Given the description of an element on the screen output the (x, y) to click on. 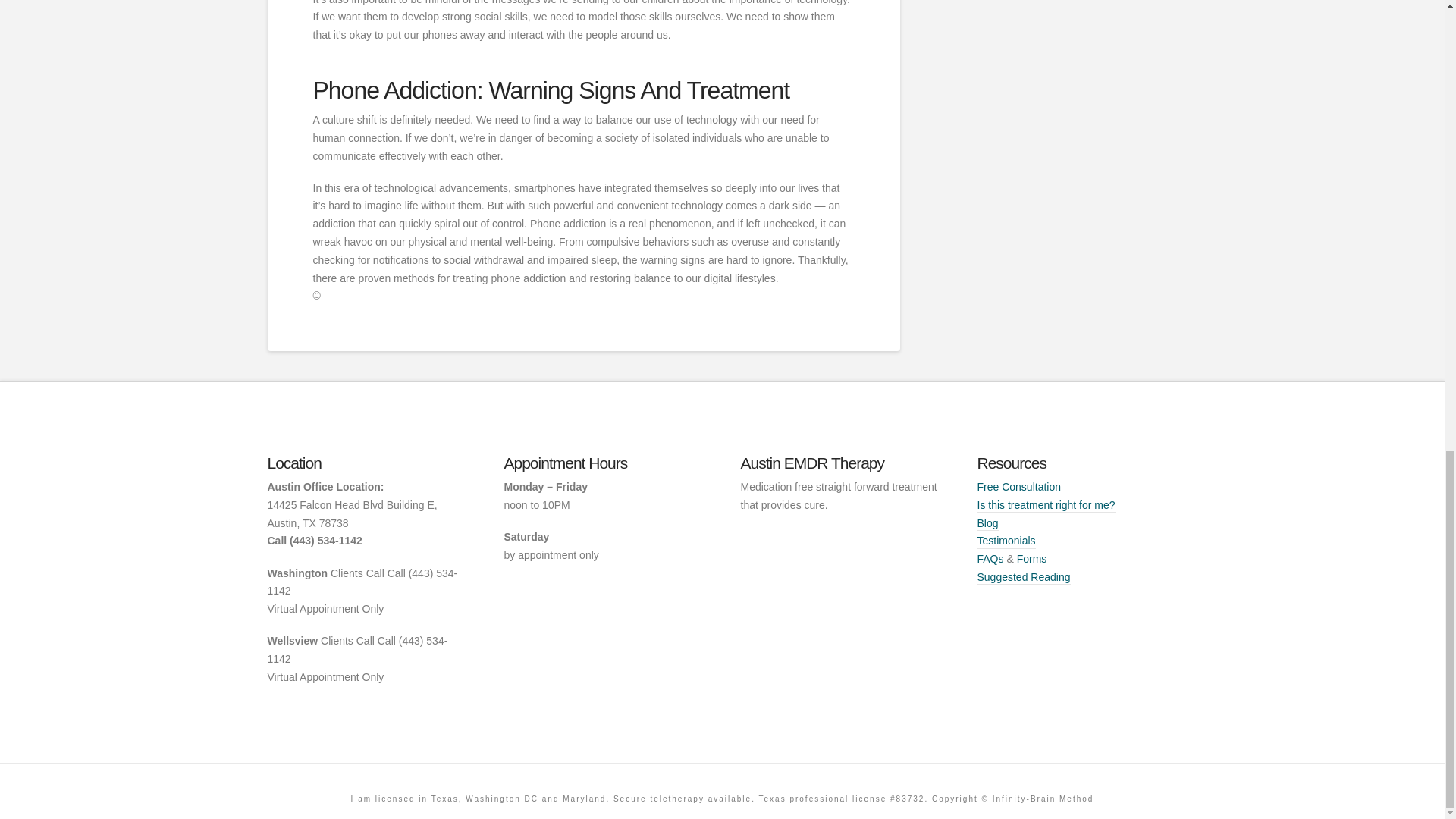
Is this treatment right for me? (1045, 505)
Testimonials (1005, 540)
Suggested Reading (1023, 577)
Free Consultation (1018, 487)
Blog (986, 523)
Forms (1031, 559)
FAQs (989, 559)
